Given the description of an element on the screen output the (x, y) to click on. 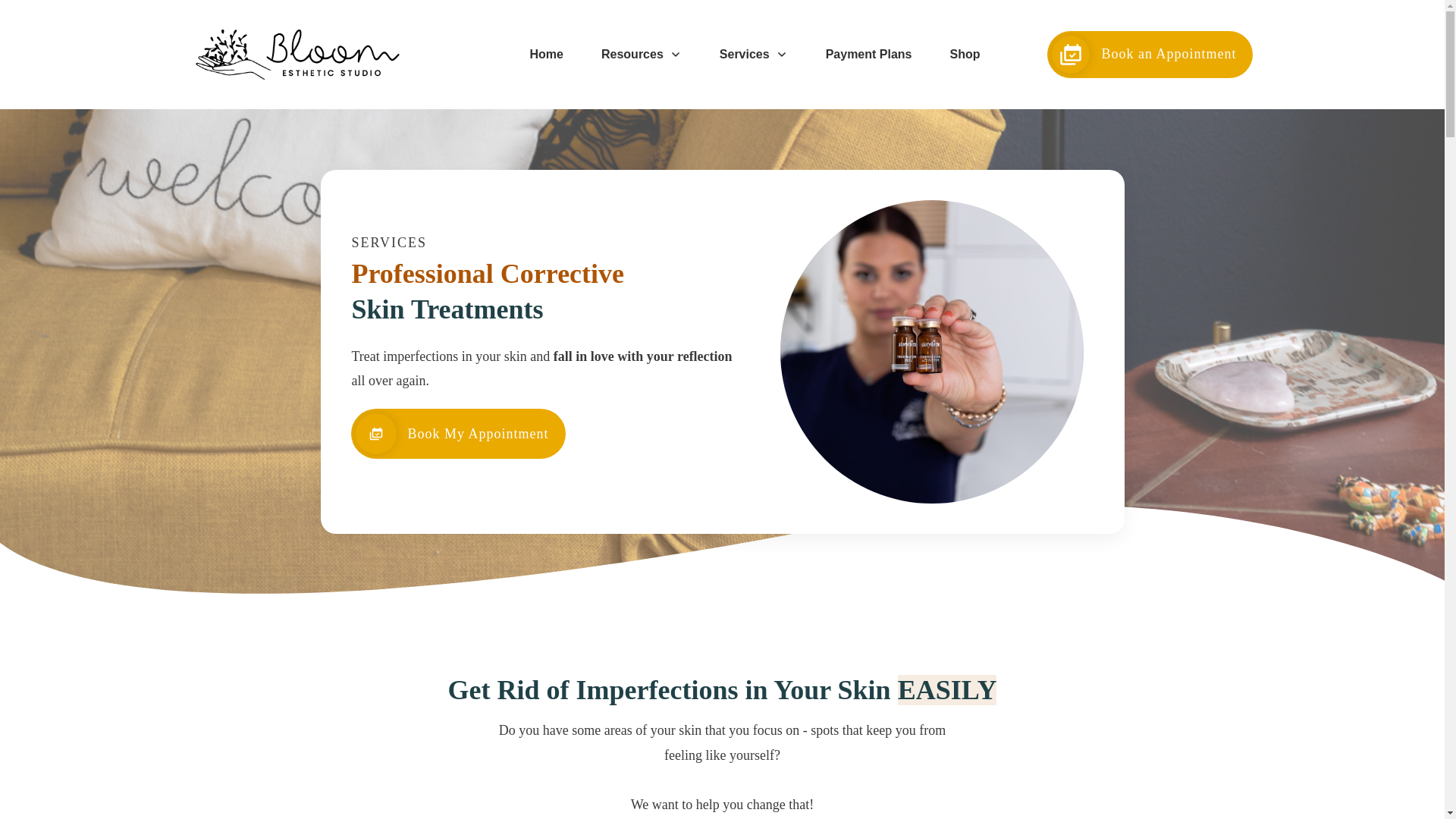
Resources (641, 54)
Home (546, 54)
Shop (964, 54)
Services (753, 54)
Book an Appointment (1149, 54)
Book My Appointment (457, 433)
Payment Plans (868, 54)
